Given the description of an element on the screen output the (x, y) to click on. 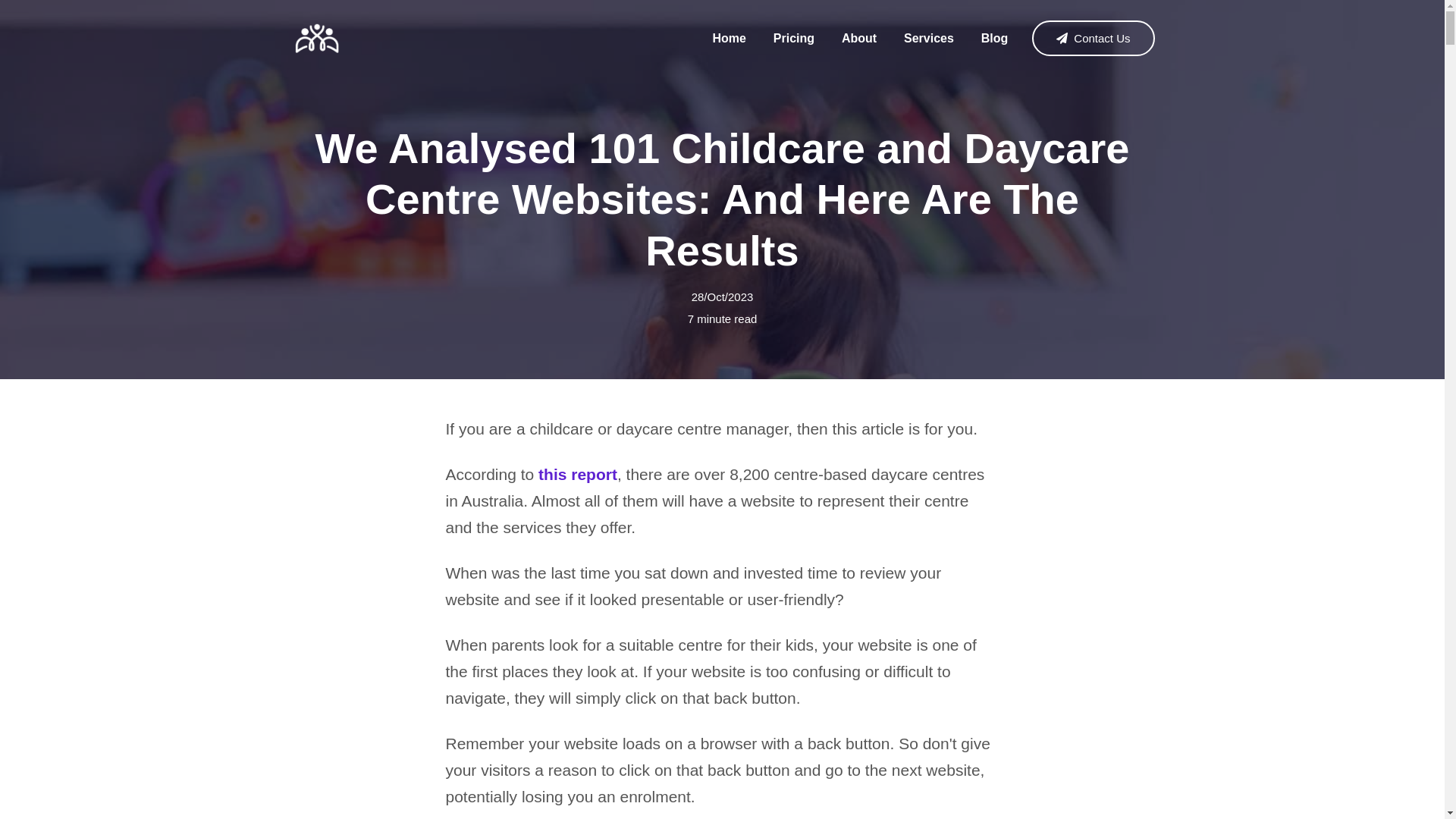
Contact Us (1093, 38)
Home (728, 38)
Services (928, 38)
Pricing (794, 38)
Blog (994, 38)
this report (577, 474)
About (858, 38)
